Given the description of an element on the screen output the (x, y) to click on. 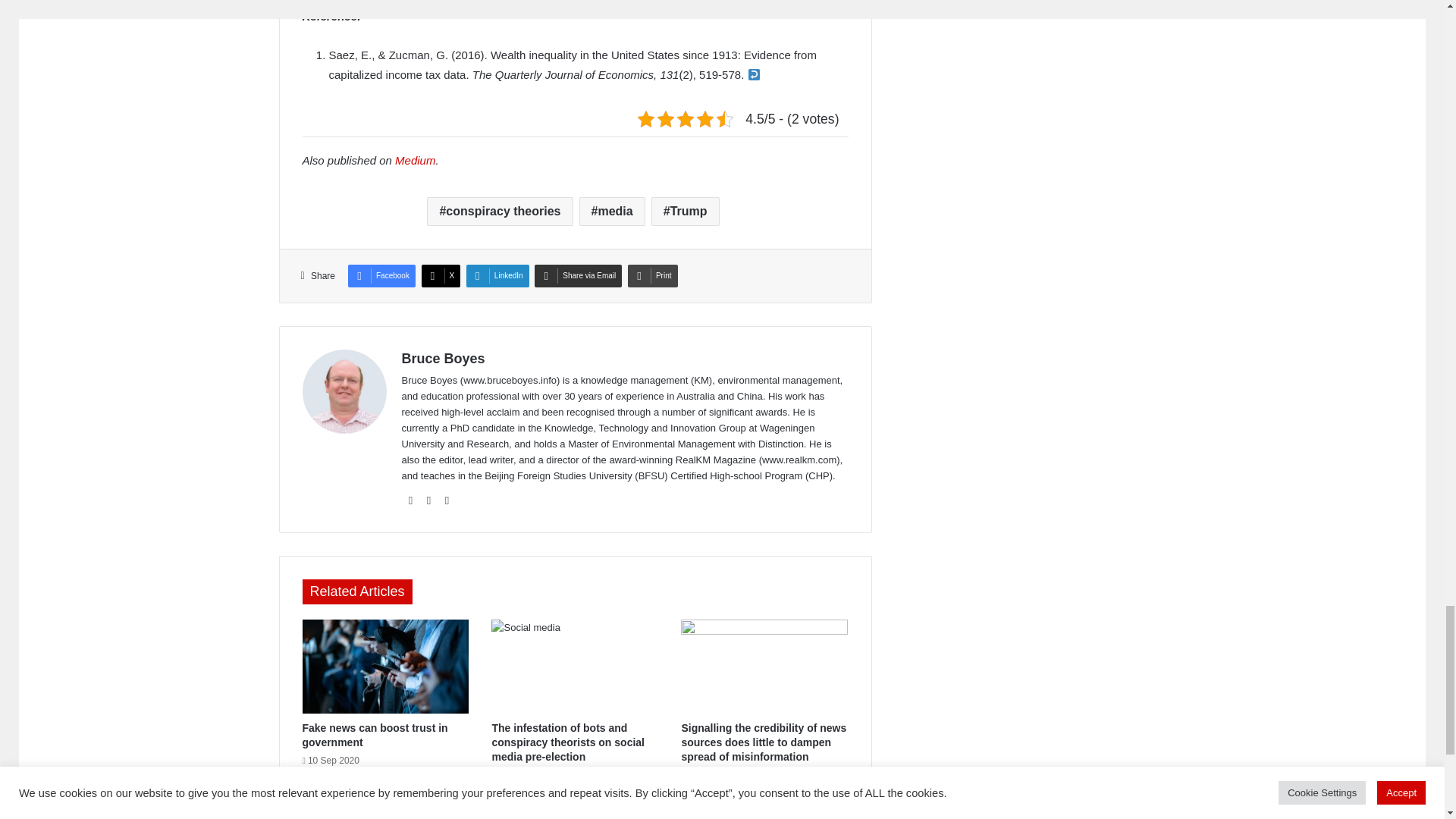
X (441, 275)
LinkedIn (497, 275)
Facebook (380, 275)
Share via Email (577, 275)
Print (652, 275)
